Given the description of an element on the screen output the (x, y) to click on. 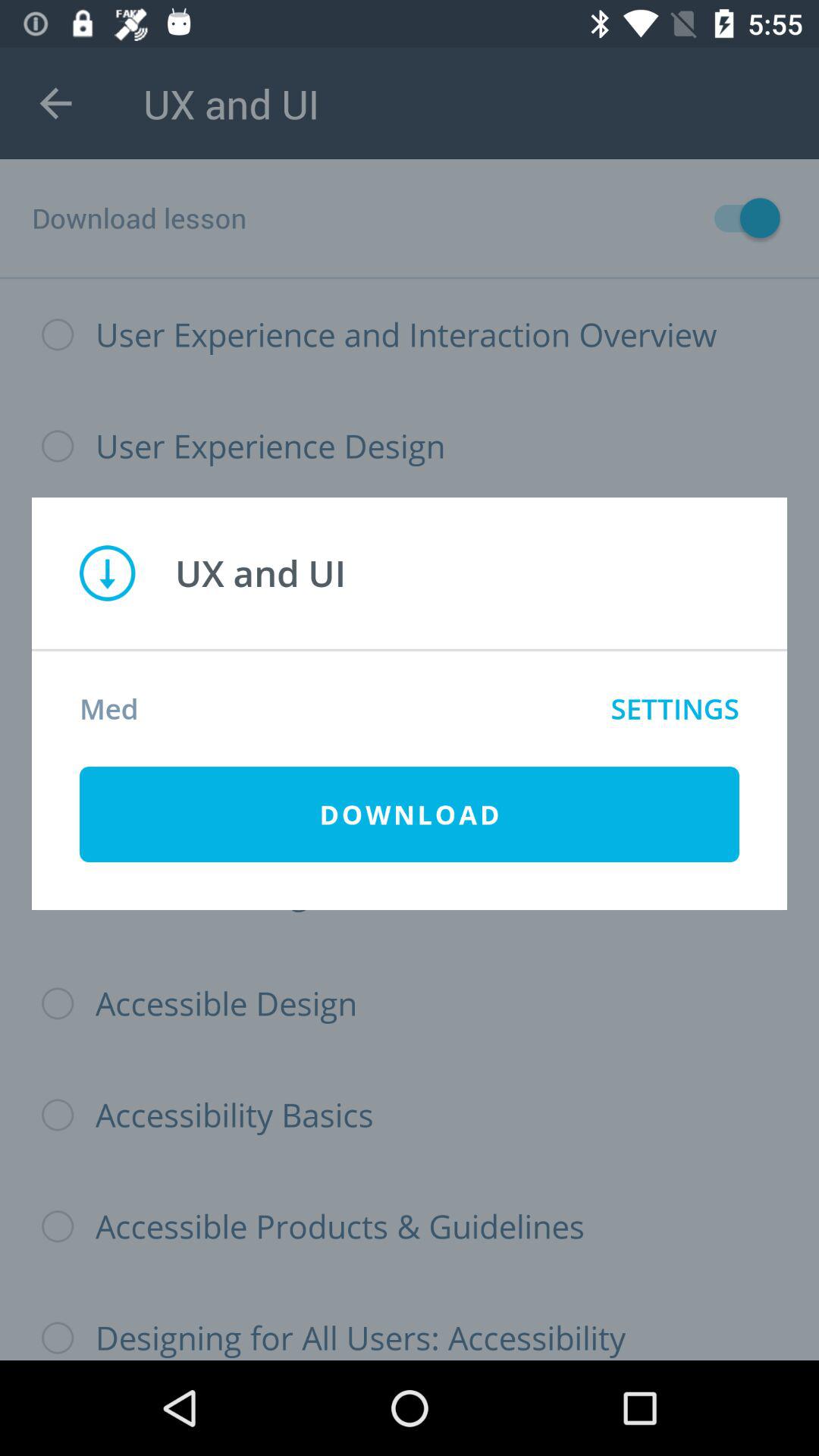
turn on the icon to the right of med icon (674, 708)
